Given the description of an element on the screen output the (x, y) to click on. 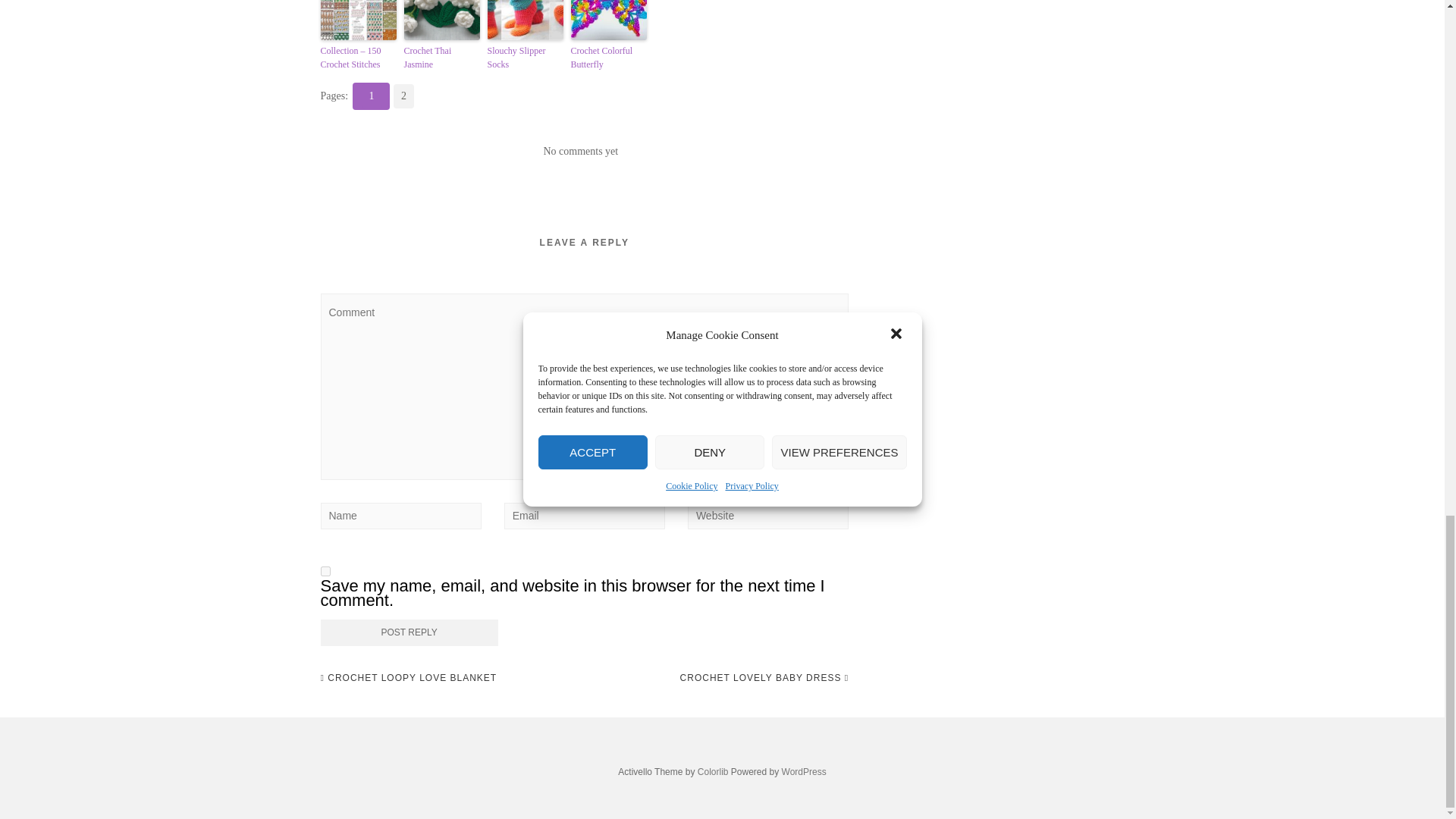
yes (325, 571)
Post Reply (408, 632)
Advertisement (997, 29)
